Given the description of an element on the screen output the (x, y) to click on. 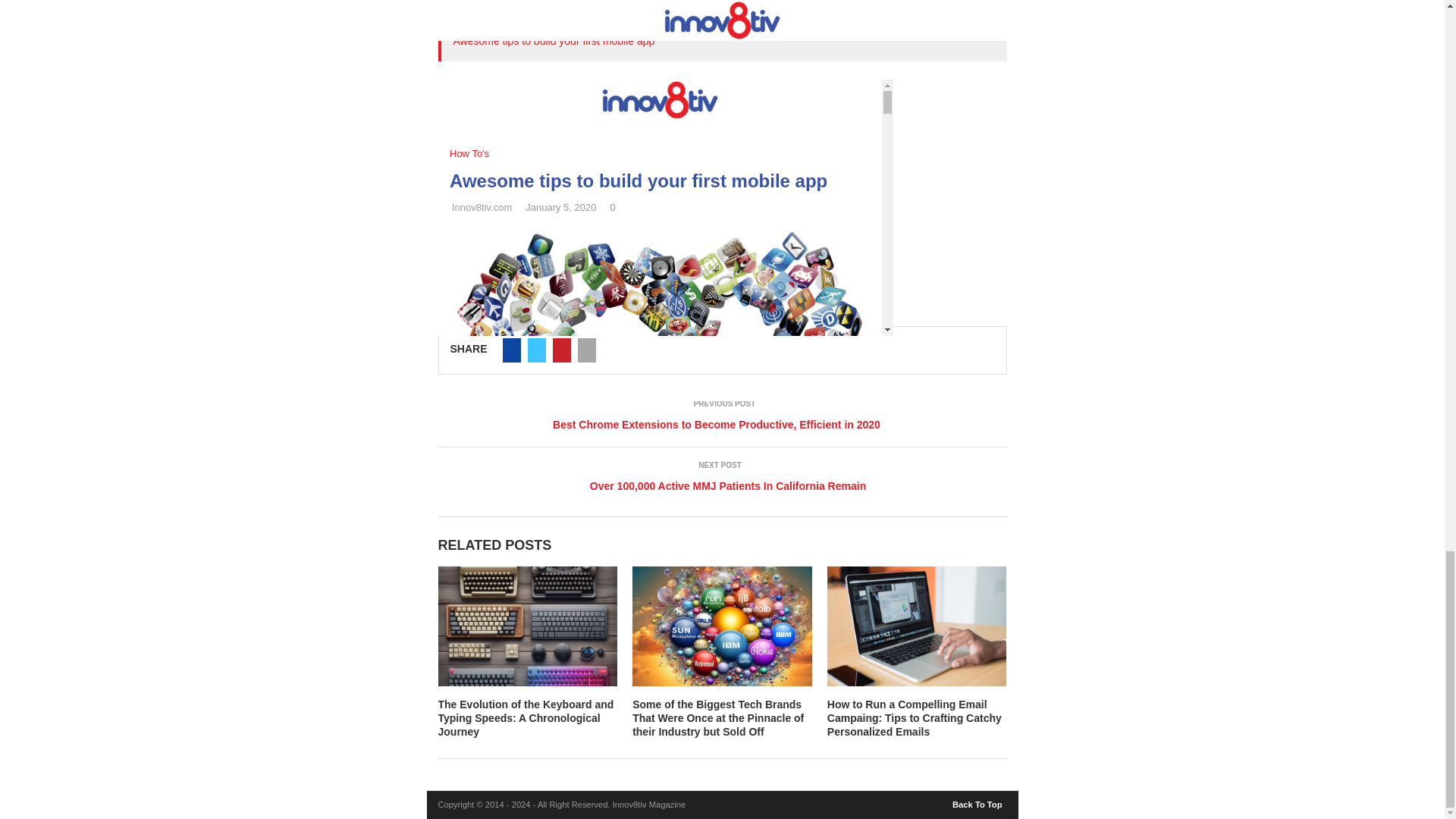
Back To Top (979, 801)
Awesome tips to build your first mobile app (553, 40)
3rd party ad content (721, 174)
Over 100,000 Active MMJ Patients In California Remain (722, 486)
